Given the description of an element on the screen output the (x, y) to click on. 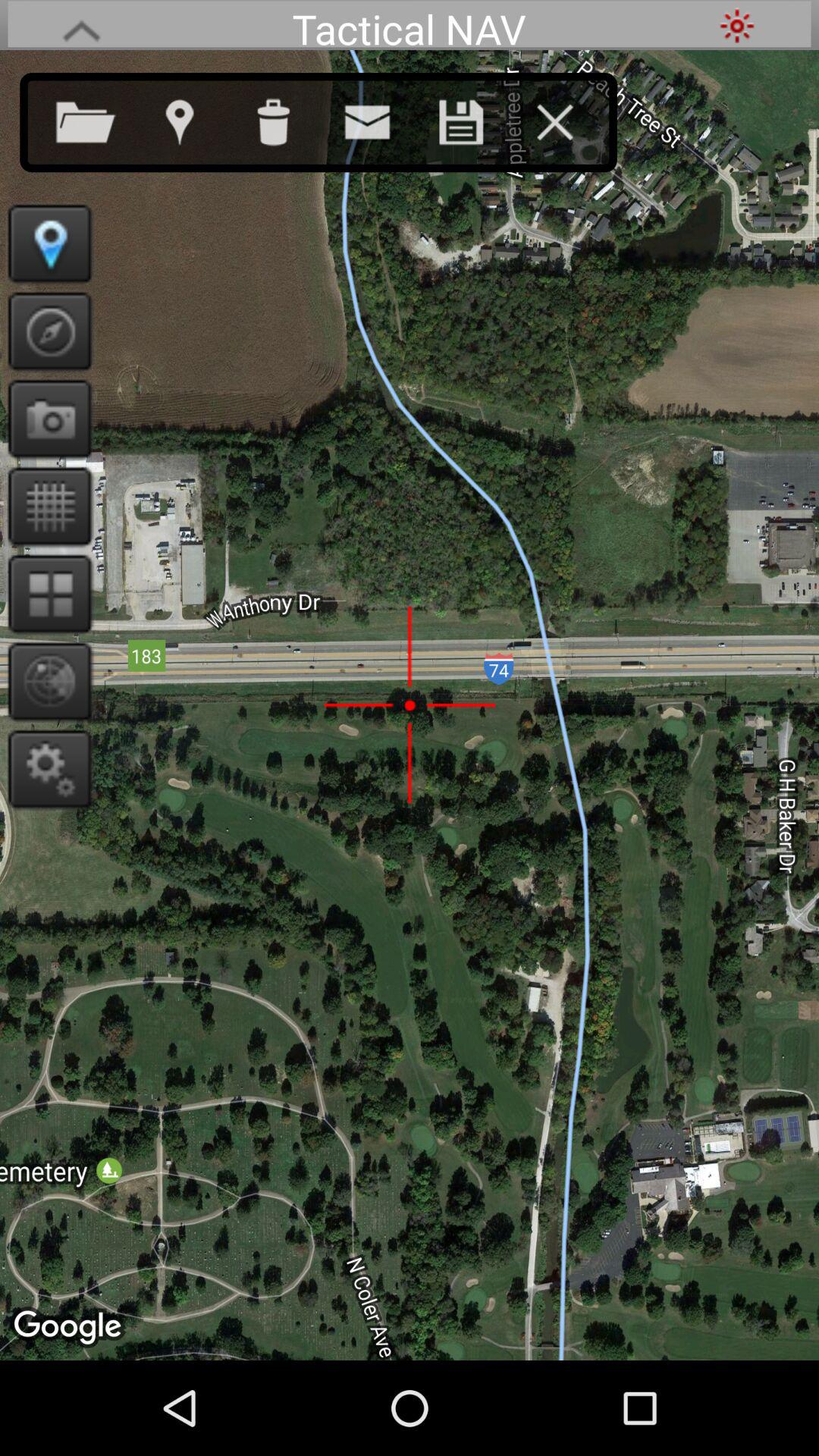
it points the departure location (737, 25)
